Given the description of an element on the screen output the (x, y) to click on. 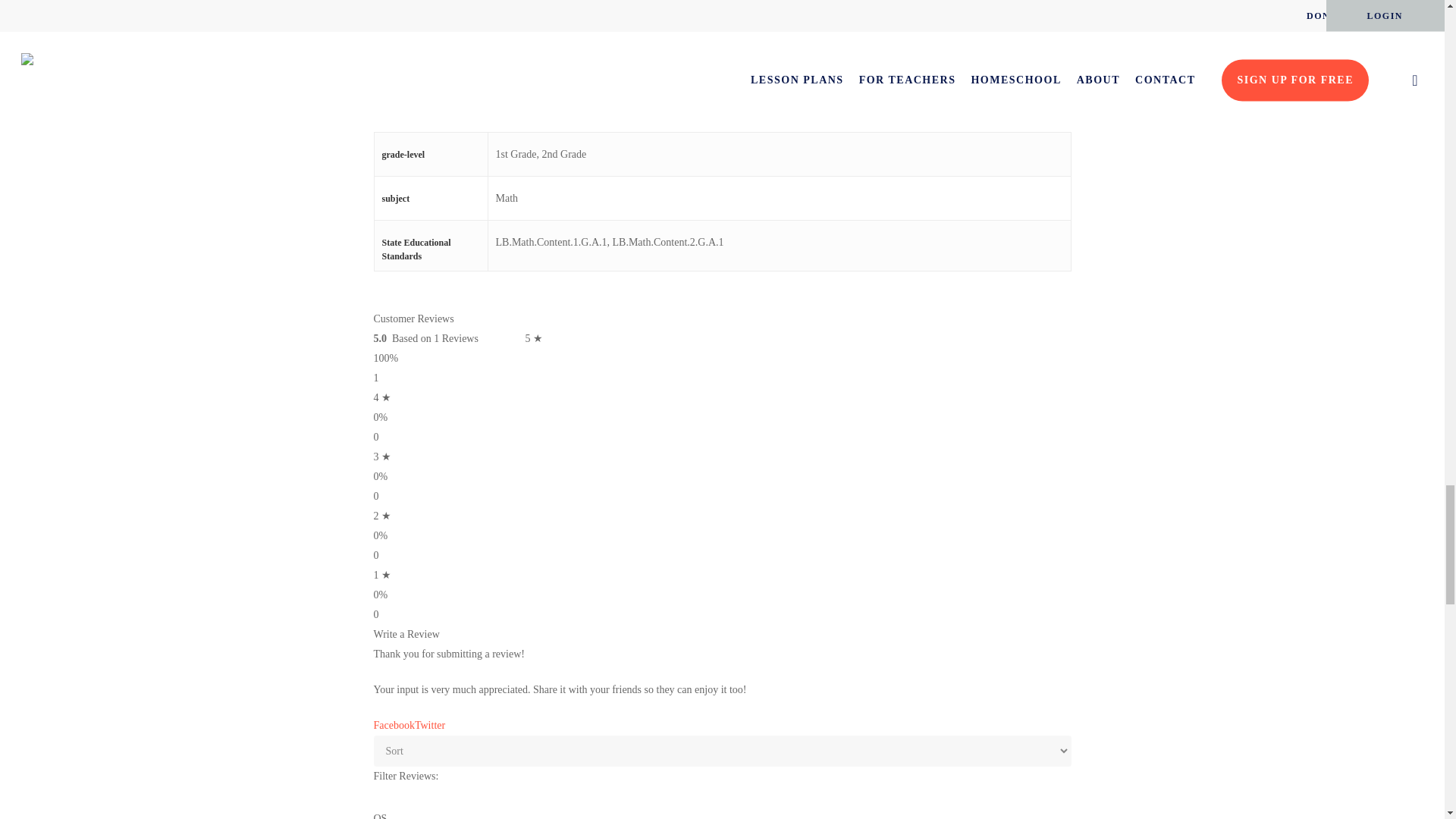
Facebook (392, 725)
